Given the description of an element on the screen output the (x, y) to click on. 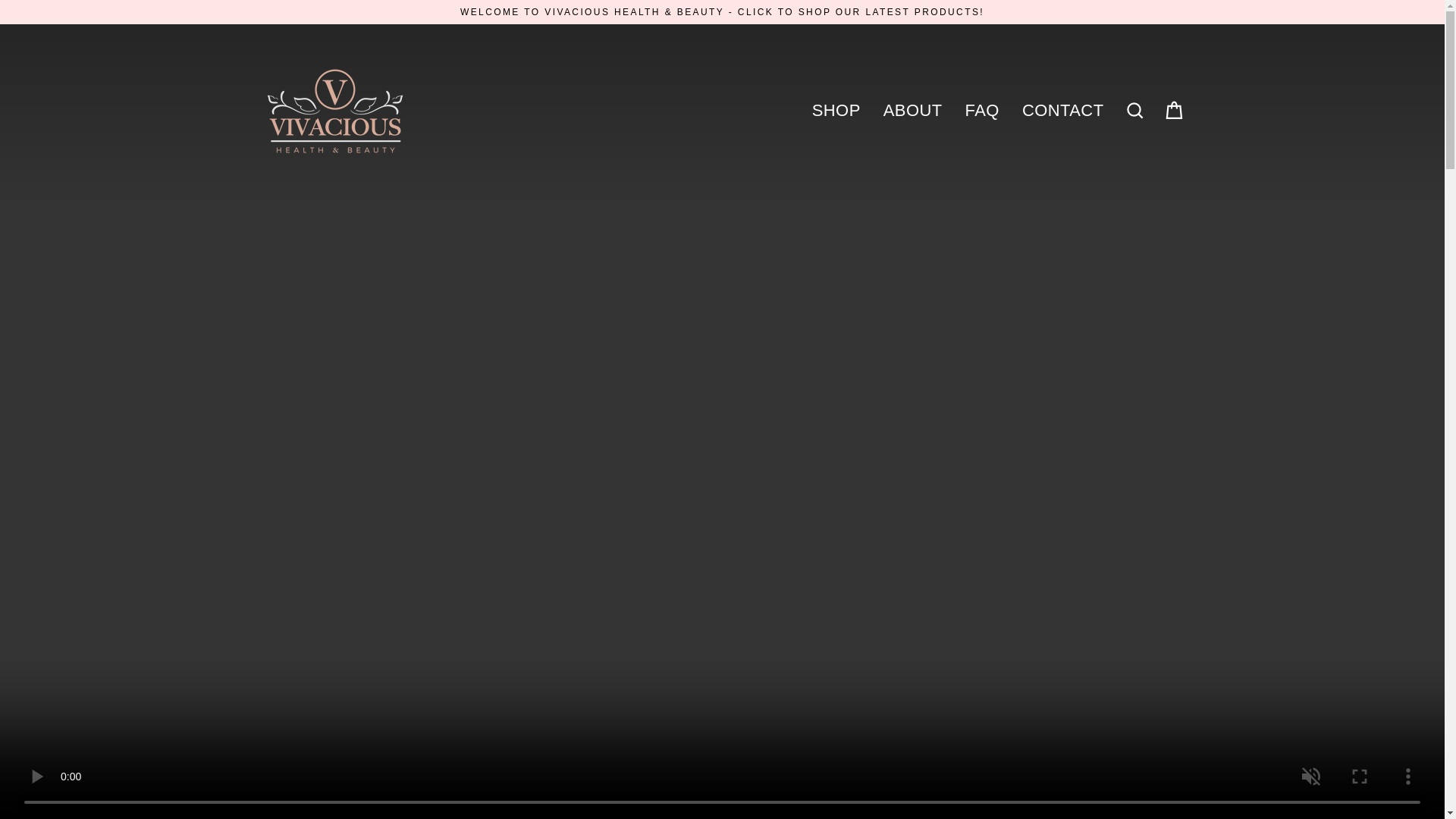
ABOUT (912, 110)
SHOP (836, 110)
